Given the description of an element on the screen output the (x, y) to click on. 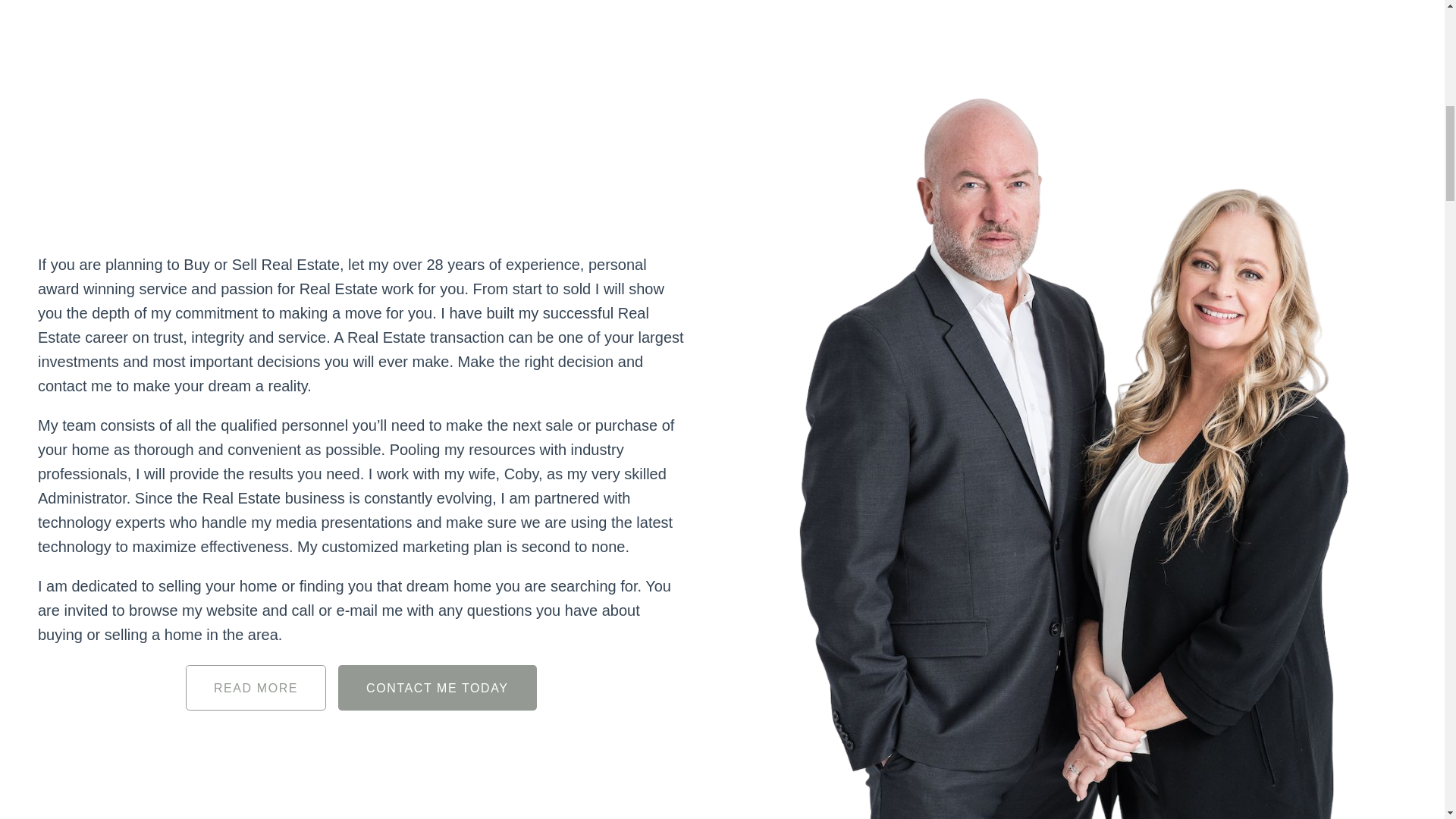
CONTACT ME TODAY (437, 687)
READ MORE (256, 687)
